Given the description of an element on the screen output the (x, y) to click on. 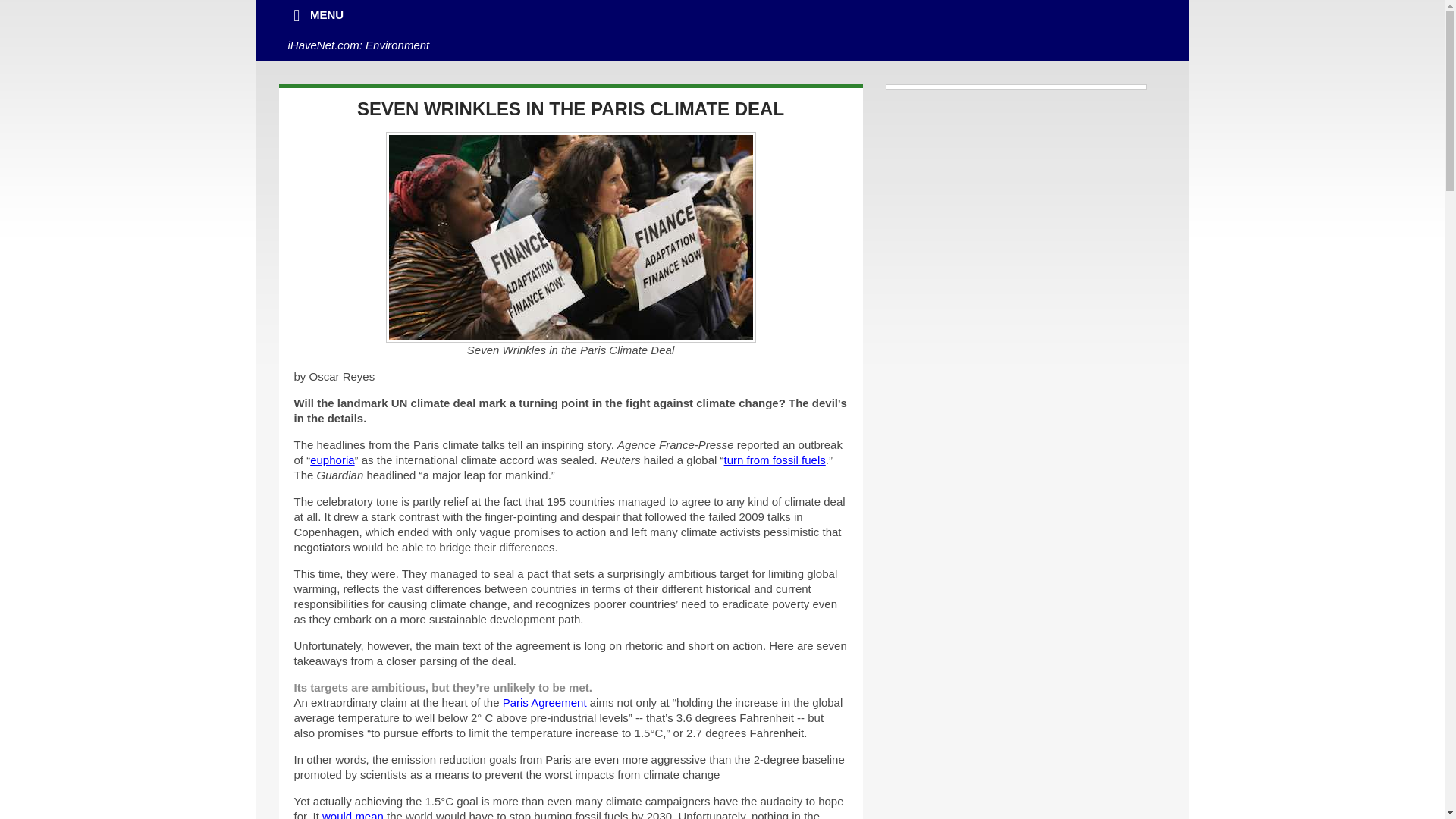
MENU (316, 15)
